Given the description of an element on the screen output the (x, y) to click on. 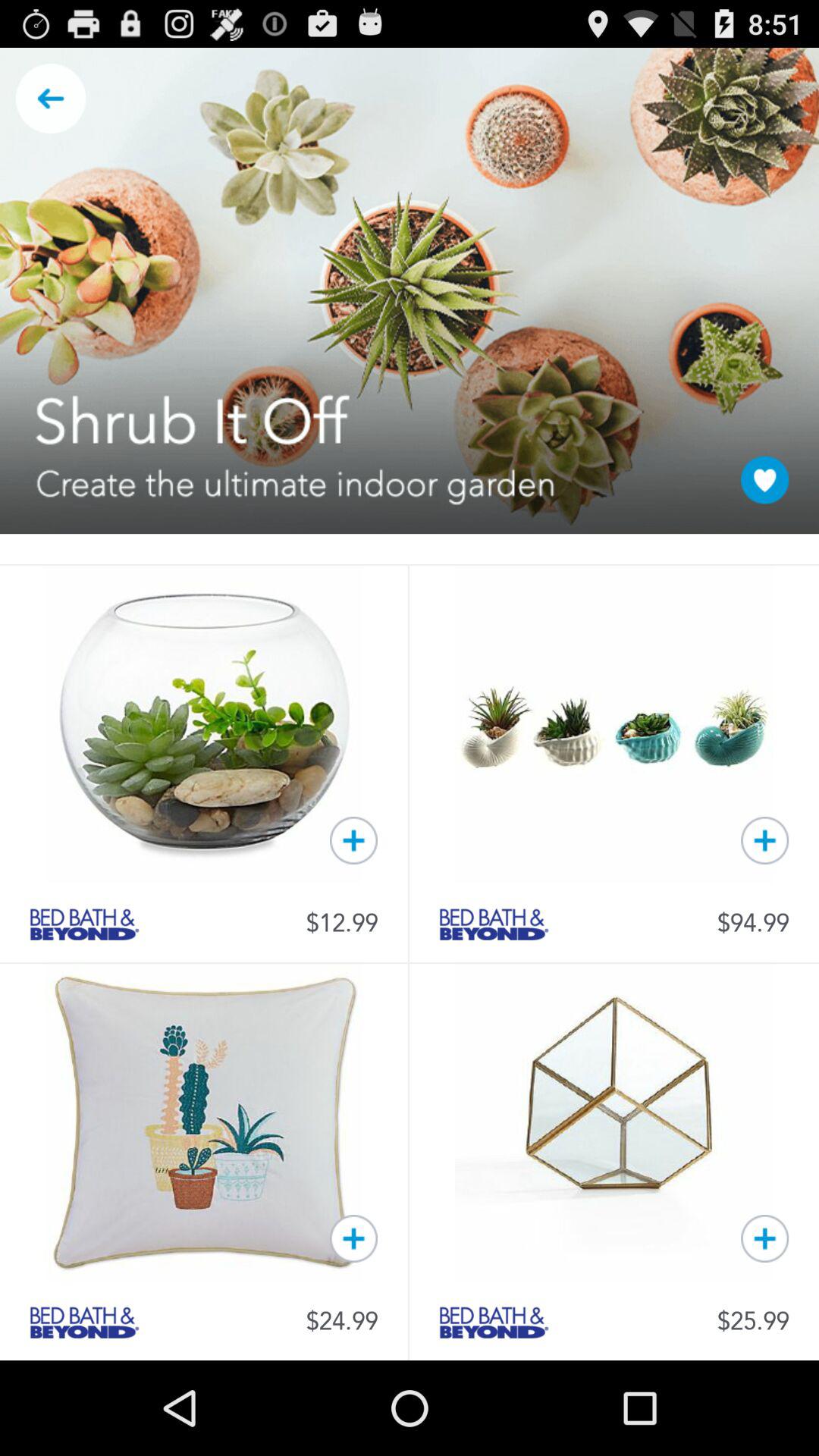
red baths reyond (493, 1322)
